Given the description of an element on the screen output the (x, y) to click on. 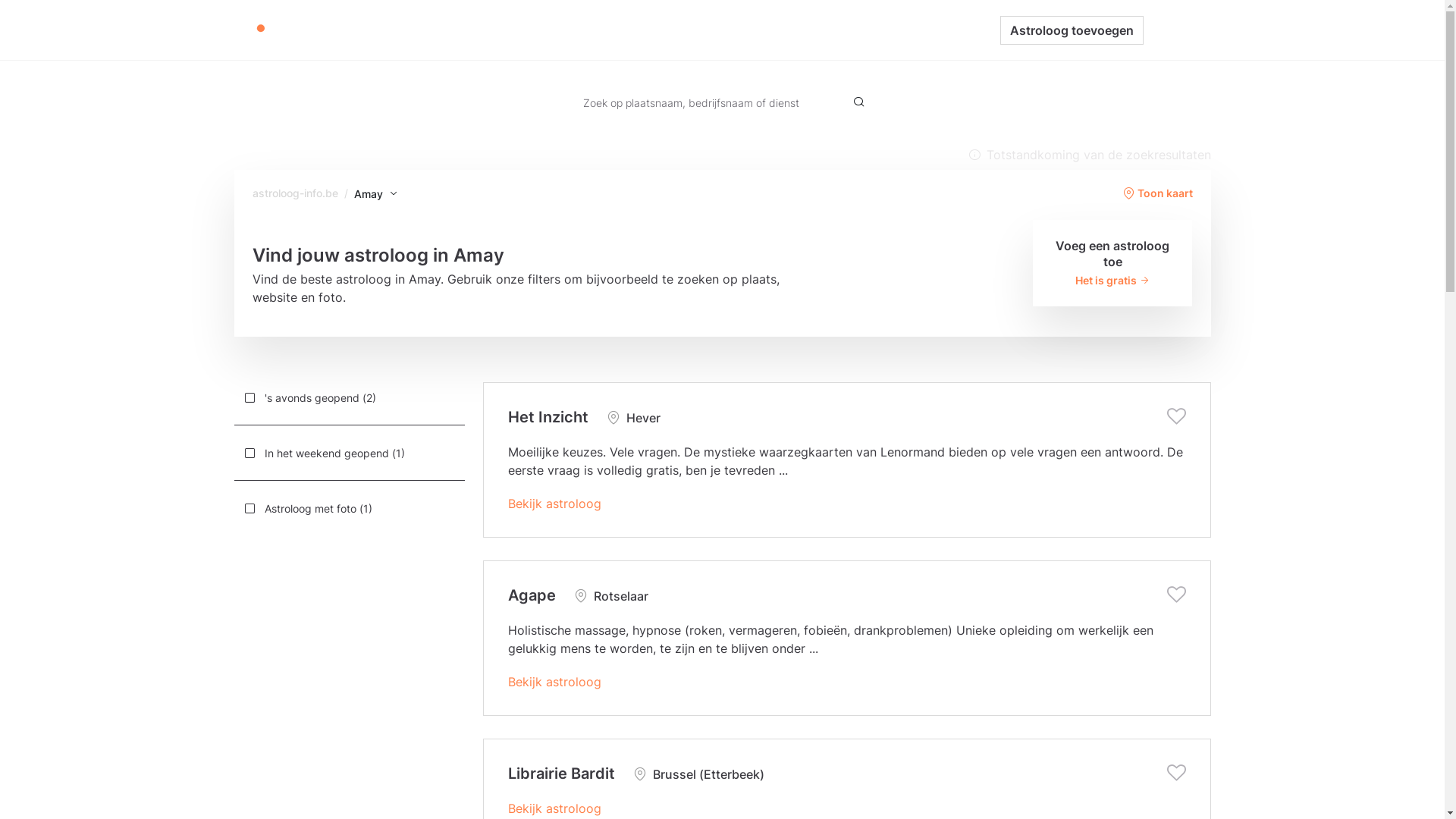
Bekijk astroloog Element type: text (554, 807)
Totstandkoming van de zoekresultaten Element type: text (1088, 154)
Het is gratis Element type: text (1112, 280)
Agape Element type: text (531, 595)
Astroloog toevoegen Element type: text (1070, 29)
Bekijk astroloog Element type: text (554, 681)
astroloog-info.be Element type: text (294, 192)
In het weekend geopend (1) Element type: text (348, 452)
Librairie Bardit Element type: text (561, 773)
Astroloog zoeken Element type: text (628, 29)
Artikelen Element type: text (718, 29)
Inloggen Element type: text (1177, 29)
Astroloog met foto (1) Element type: text (348, 507)
Toon kaart Element type: text (1157, 192)
Amay Element type: text (375, 193)
Vraagbaak Element type: text (792, 29)
's avonds geopend (2) Element type: text (348, 397)
Het Inzicht Element type: text (548, 416)
Bekijk astroloog Element type: text (554, 503)
